Given the description of an element on the screen output the (x, y) to click on. 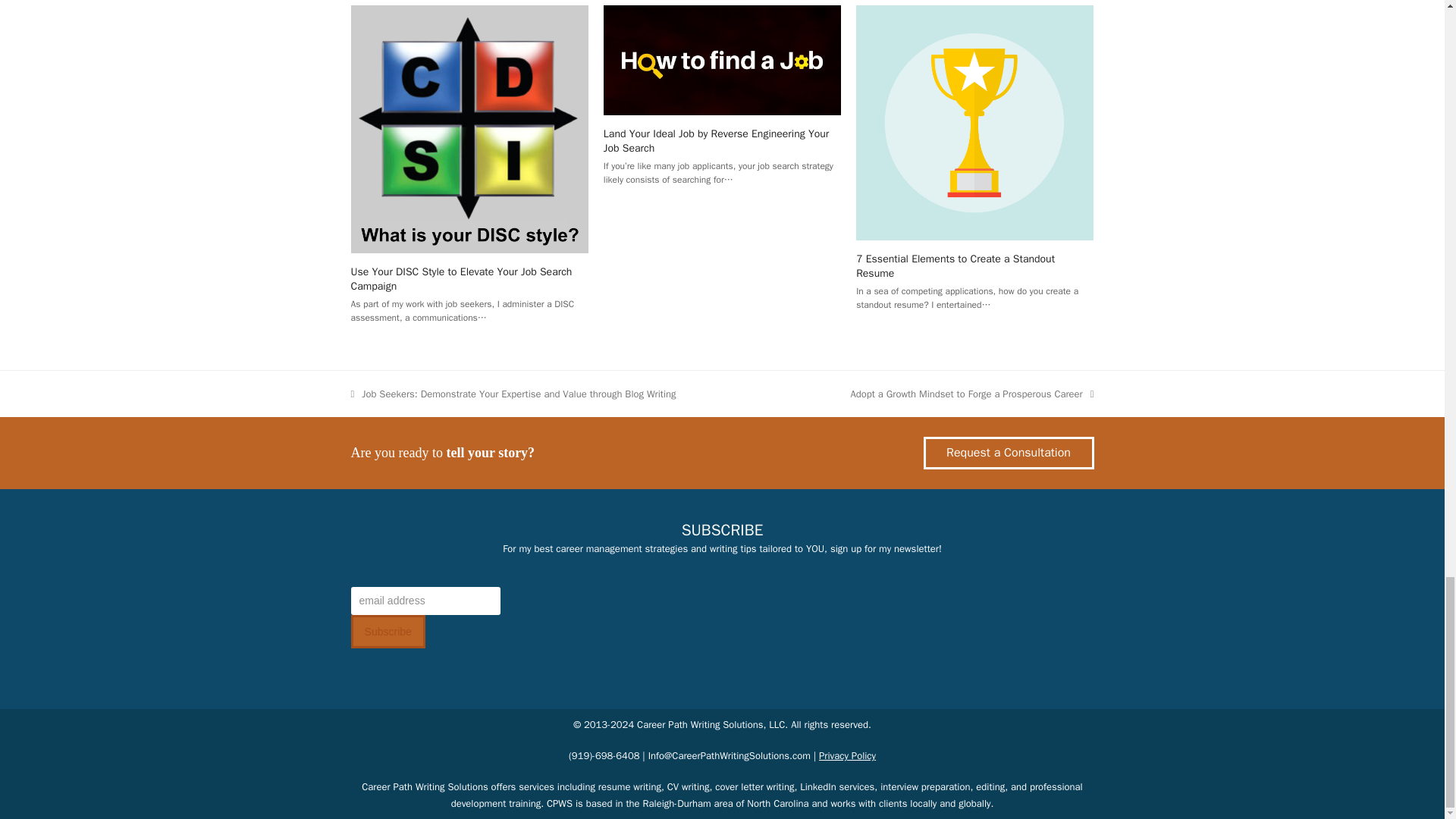
7 Essential Elements to Create a Standout Resume (955, 266)
7 Essential Elements to Create a Standout Resume (974, 121)
Land Your Ideal Job by Reverse Engineering Your Job Search (722, 58)
Subscribe (387, 631)
Request a Consultation (1008, 452)
Use Your DISC Style to Elevate Your Job Search Campaign (461, 278)
Subscribe (387, 631)
Land Your Ideal Job by Reverse Engineering Your Job Search (716, 139)
Use Your DISC Style to Elevate Your Job Search Campaign (469, 127)
